Given the description of an element on the screen output the (x, y) to click on. 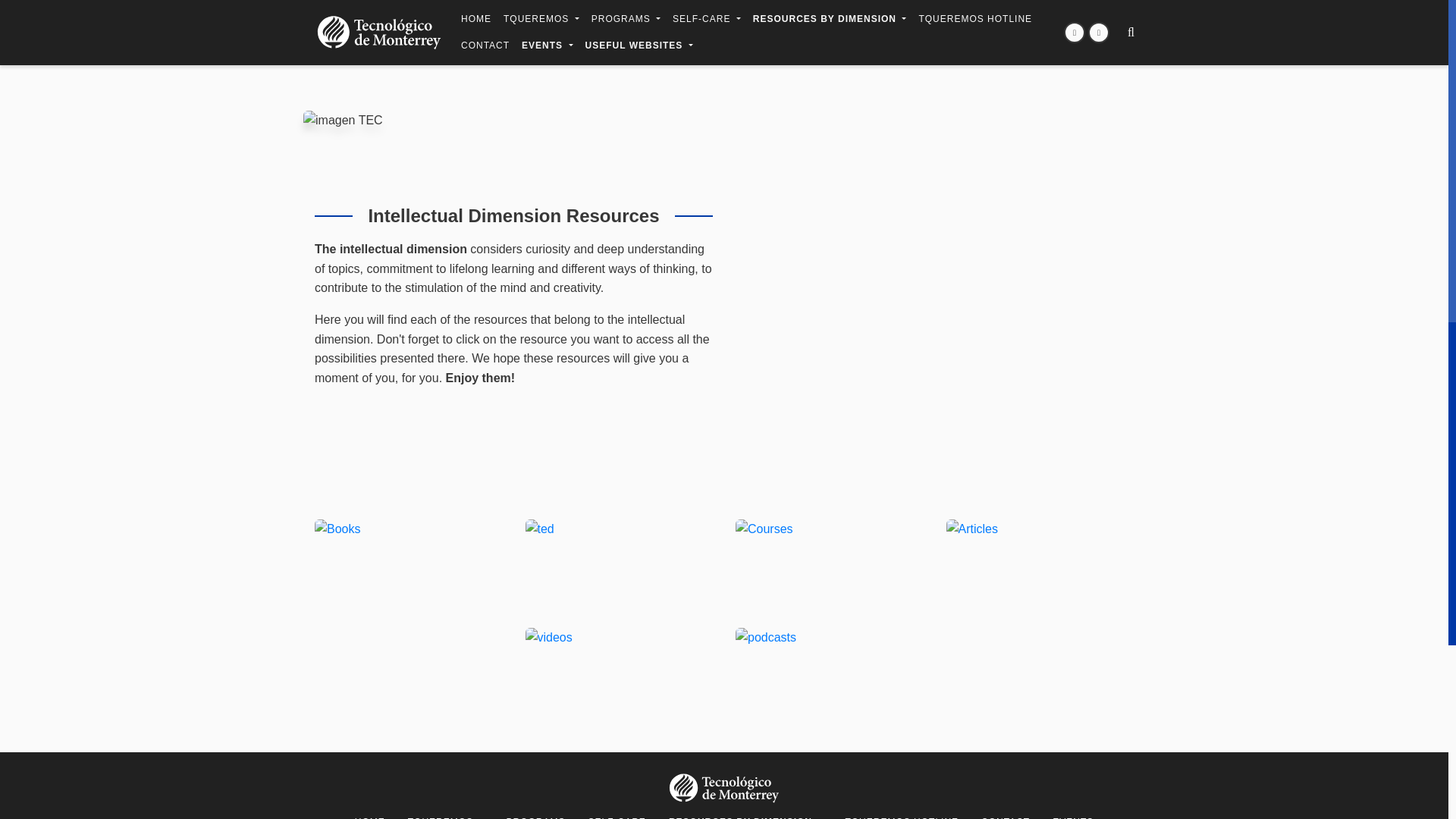
TQUEREMOS HOTLINE (975, 18)
PROGRAMS (625, 33)
SELF-CARE (706, 41)
EVENTS (546, 45)
imagen TEC (342, 120)
USEFUL WEBSITES (638, 45)
RESOURCES BY DIMENSION (829, 12)
CONTACT (484, 45)
